Given the description of an element on the screen output the (x, y) to click on. 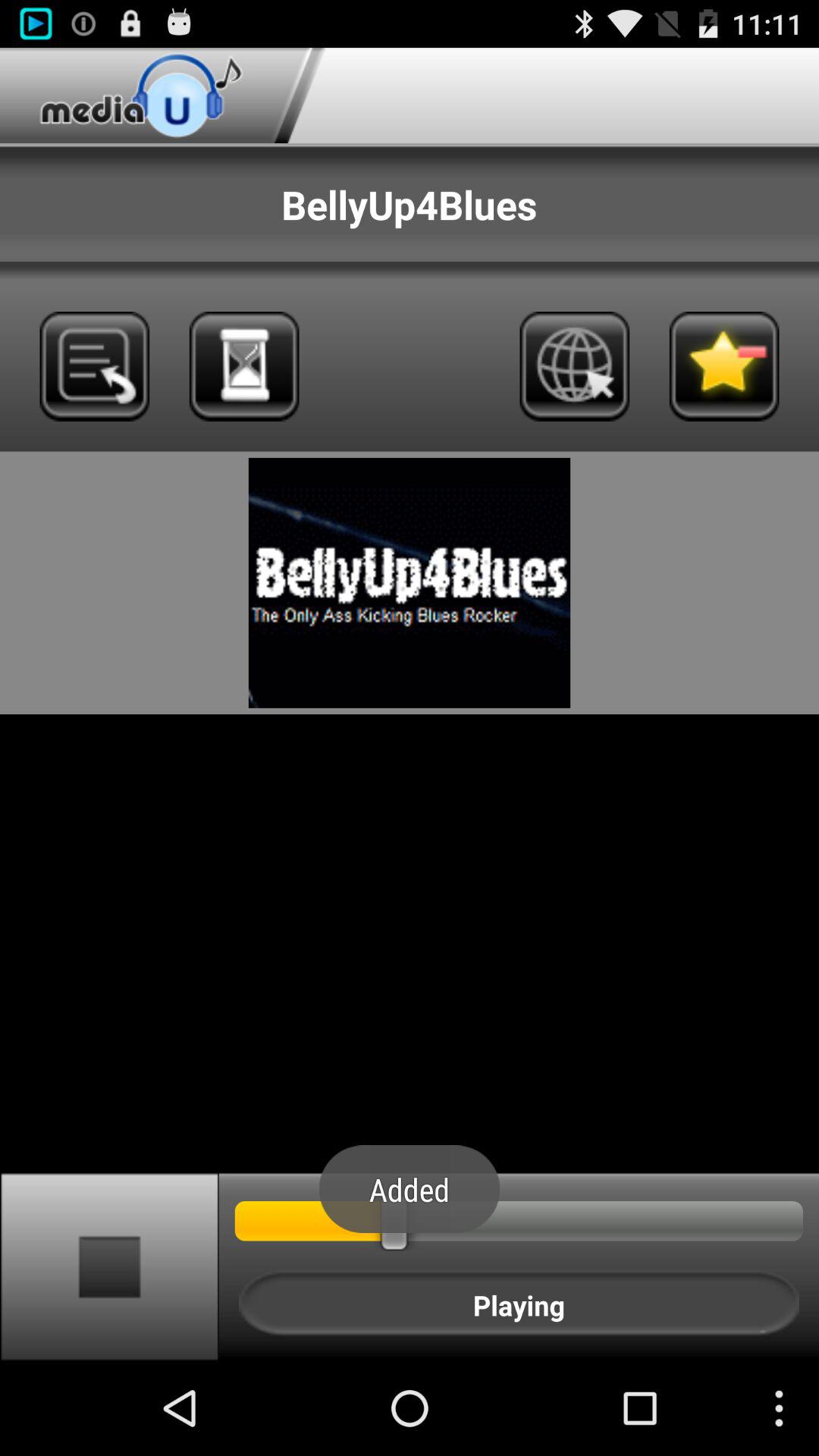
stop (109, 1266)
